Given the description of an element on the screen output the (x, y) to click on. 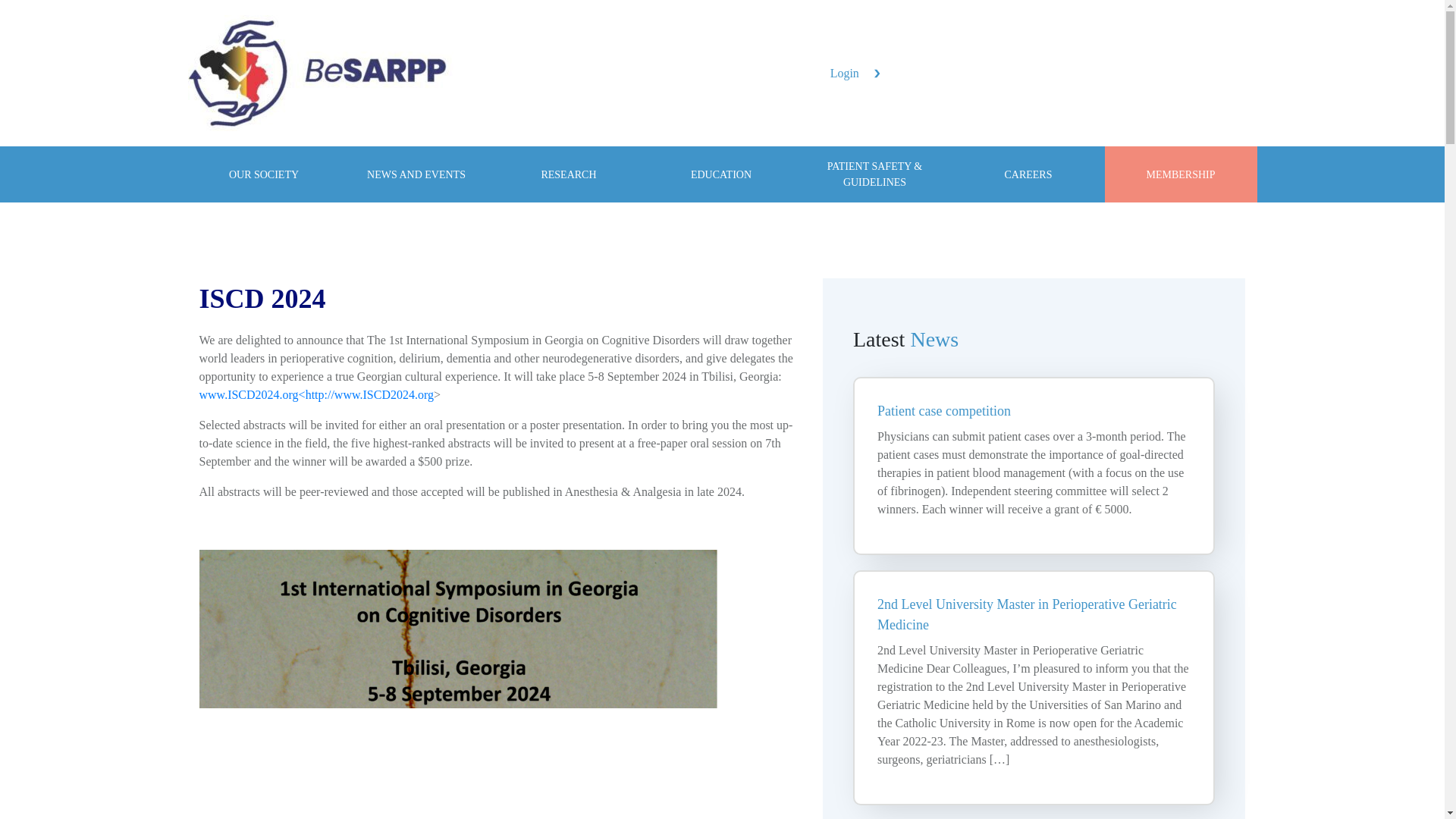
Login (854, 72)
OUR SOCIETY (263, 174)
CAREERS (1028, 174)
RESEARCH (569, 174)
NEWS AND EVENTS (415, 174)
EDUCATION (720, 174)
